Given the description of an element on the screen output the (x, y) to click on. 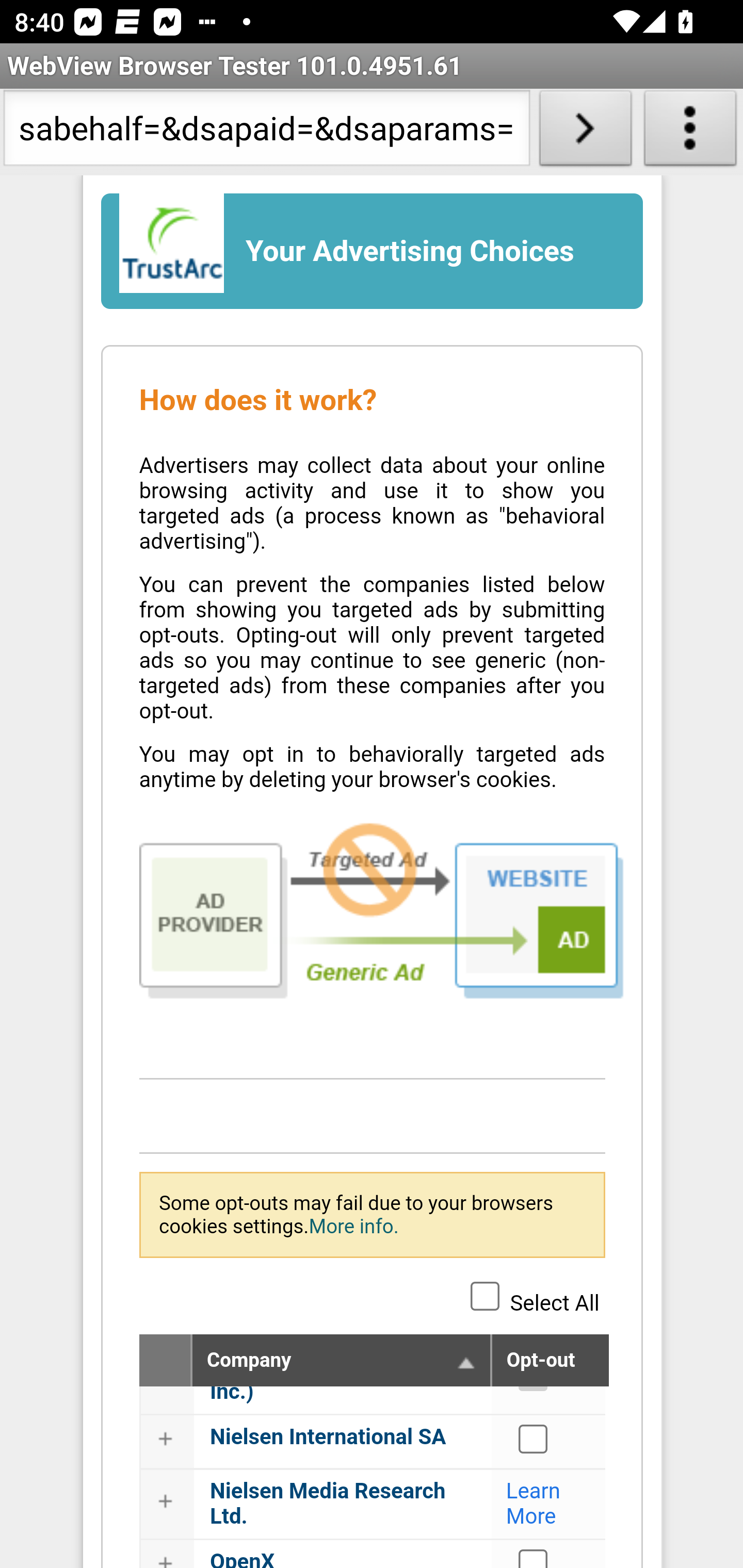
Load URL (585, 132)
About WebView (690, 132)
More info. (352, 1225)
 Select All  (484, 1294)
Company list, sort alphabetically ascending (466, 1361)
Nielsen International SA (328, 1436)
Nielsen International SA (533, 1438)
Nielsen Media Research Ltd. (327, 1504)
Learn More (533, 1504)
